Given the description of an element on the screen output the (x, y) to click on. 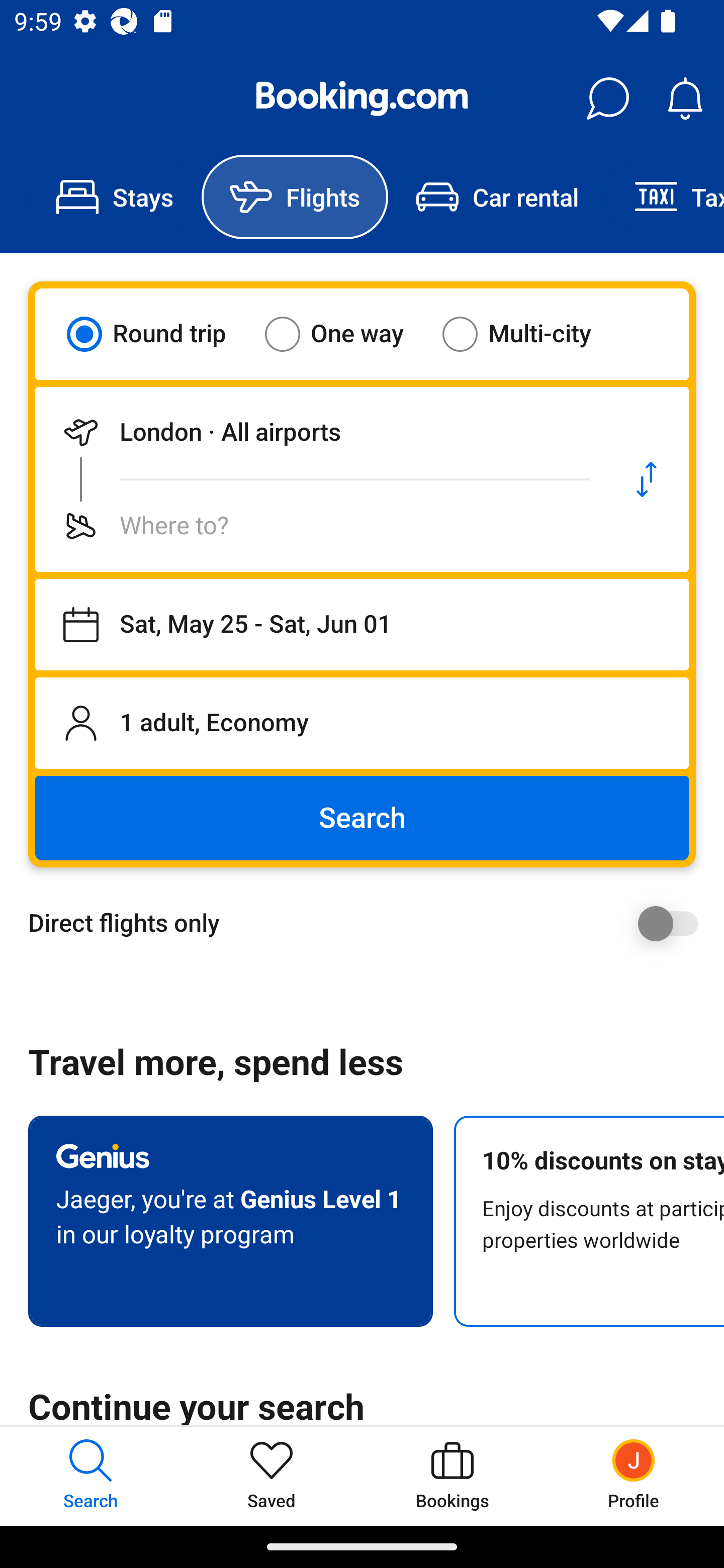
Messages (607, 98)
Notifications (685, 98)
Stays (114, 197)
Flights (294, 197)
Car rental (497, 197)
Taxi (665, 197)
One way (346, 333)
Multi-city (528, 333)
Departing from London · All airports (319, 432)
Swap departure location and destination (646, 479)
Flying to  (319, 525)
Departing on Sat, May 25, returning on Sat, Jun 01 (361, 624)
1 adult, Economy (361, 722)
Search (361, 818)
Direct flights only (369, 923)
Saved (271, 1475)
Bookings (452, 1475)
Profile (633, 1475)
